Given the description of an element on the screen output the (x, y) to click on. 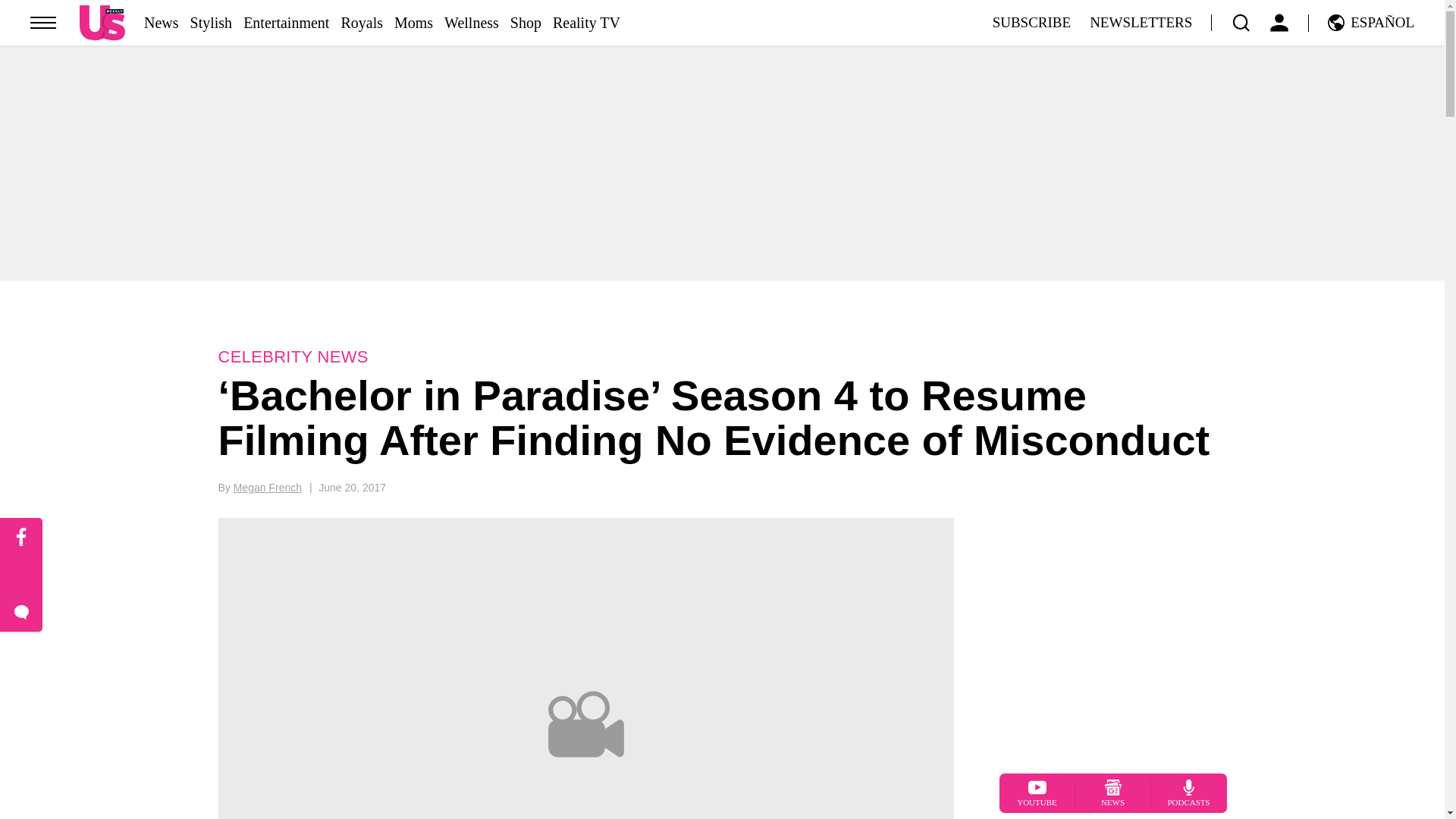
Royals (361, 22)
Entertainment (286, 22)
Us Weekly Magazine (102, 22)
Posts by Megan French (266, 487)
Stylish (211, 22)
Moms (413, 22)
Click to share on Facebook (21, 537)
Wellness (471, 22)
Click to share on Twitter (21, 575)
News (161, 22)
